Given the description of an element on the screen output the (x, y) to click on. 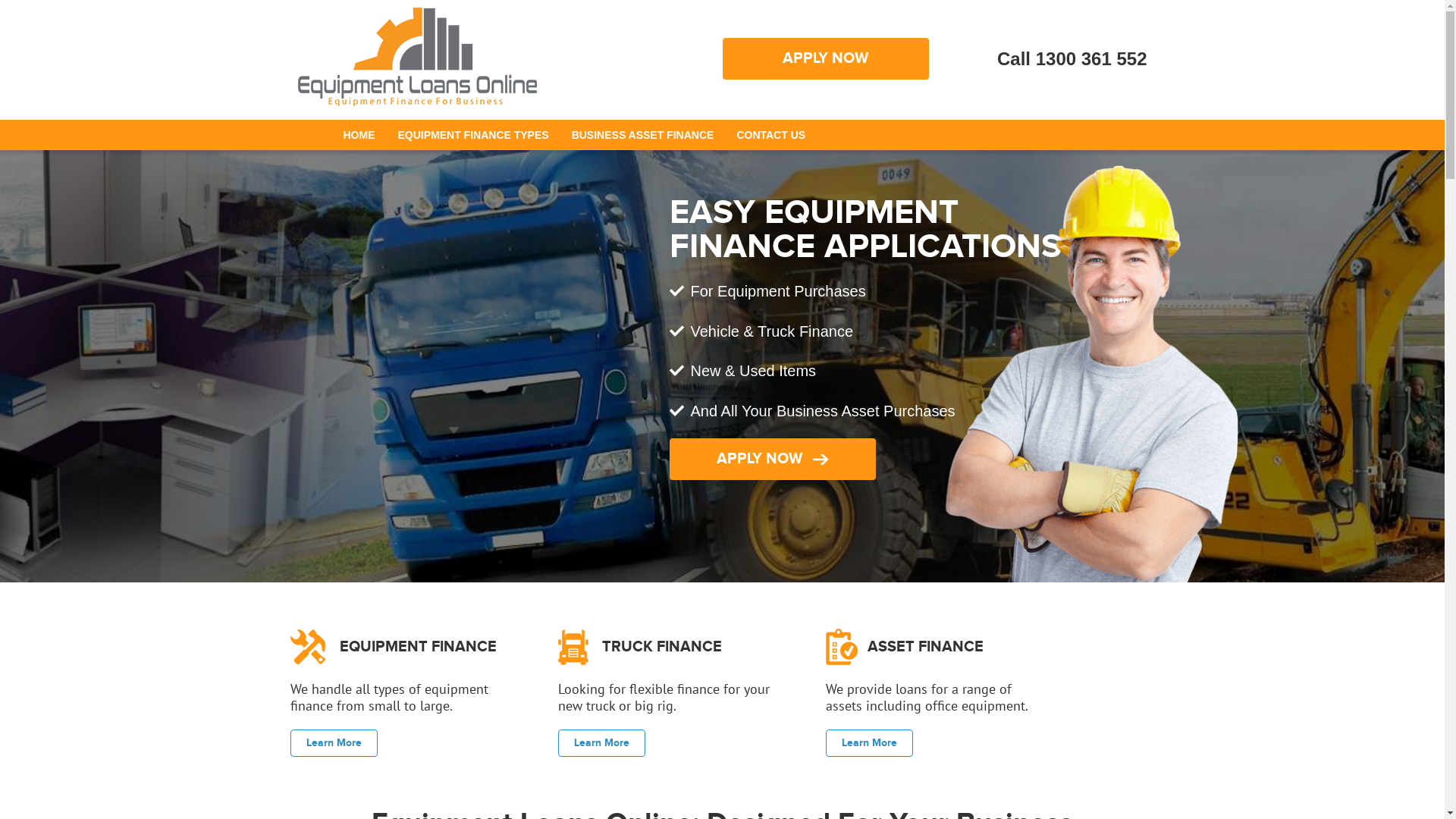
ASSET FINANCE Element type: text (925, 646)
APPLY NOW Element type: text (771, 459)
EQUIPMENT FINANCE Element type: text (417, 646)
CONTACT US Element type: text (770, 134)
BUSINESS ASSET FINANCE Element type: text (642, 134)
Learn More Element type: text (332, 742)
TRUCK FINANCE Element type: text (661, 646)
EQUIPMENT FINANCE TYPES Element type: text (472, 134)
HOME Element type: text (358, 134)
Learn More Element type: text (601, 742)
Call 1300 361 552 Element type: text (1072, 58)
APPLY NOW Element type: text (825, 58)
Learn More Element type: text (869, 742)
